Given the description of an element on the screen output the (x, y) to click on. 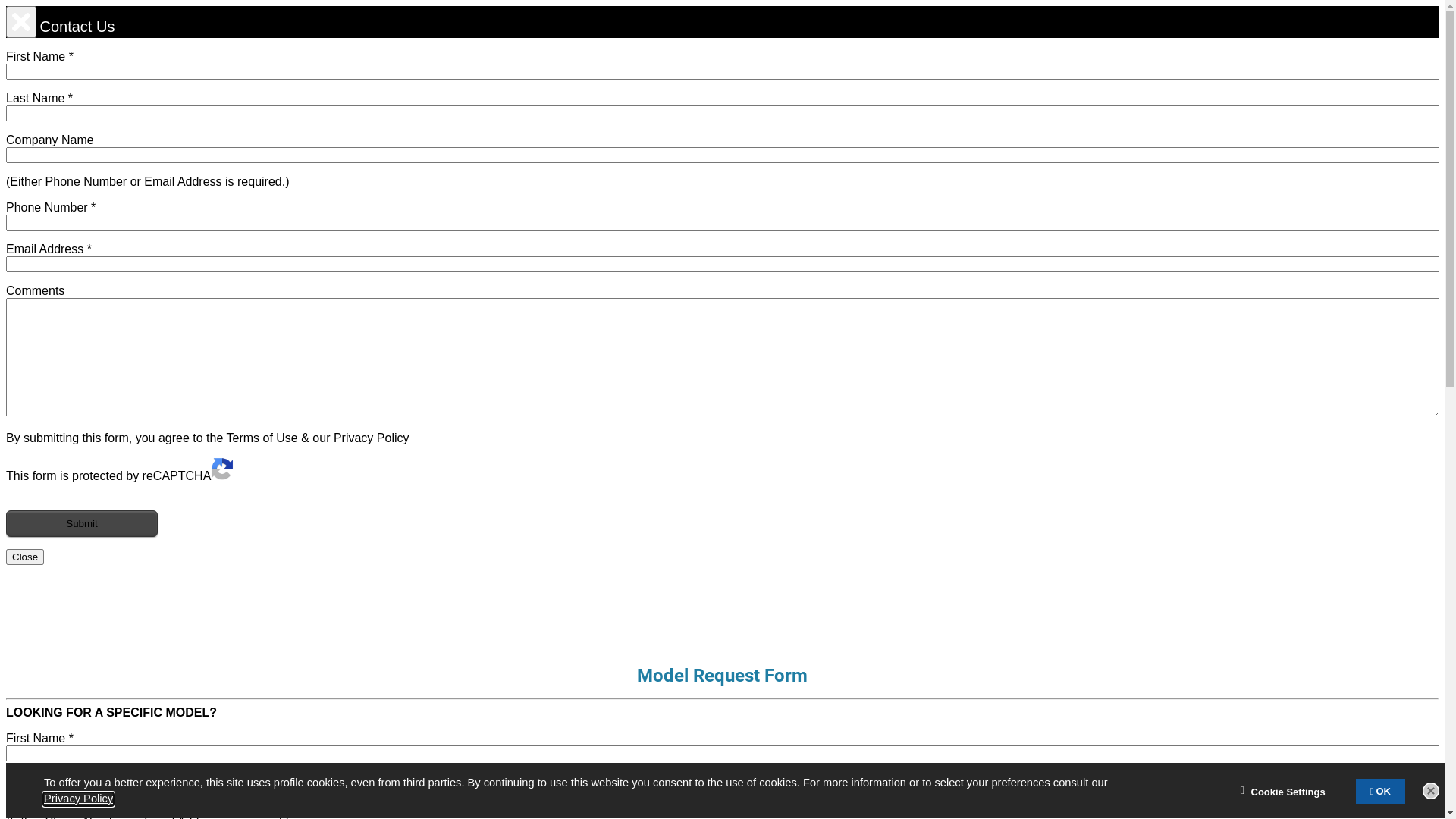
Privacy Policy Element type: text (371, 437)
Terms of Use Element type: text (262, 437)
OK Element type: text (1380, 791)
Close Element type: hover (1430, 790)
Submit Element type: text (81, 523)
Privacy Policy Element type: text (77, 799)
Close Element type: text (24, 556)
Cookie Settings Element type: text (1288, 792)
